Given the description of an element on the screen output the (x, y) to click on. 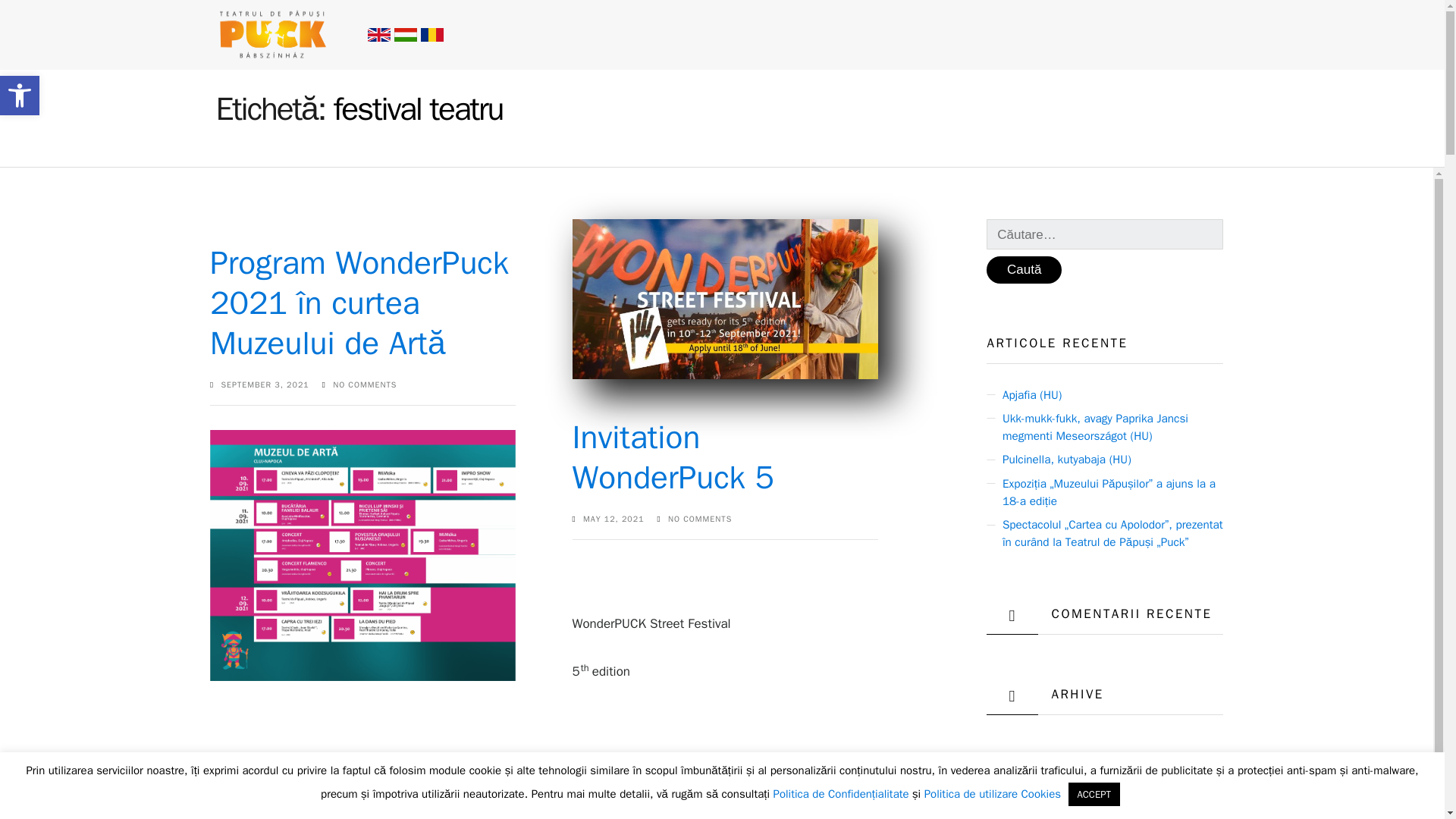
Instrumente de accesibilitate (19, 95)
SEPTEMBER 3, 2021 (264, 384)
Archivum (1025, 818)
Invitation WonderPuck 5 (673, 456)
Invitation WonderPuck 5 (673, 456)
MAY 12, 2021 (614, 519)
Instrumente de accesibilitate (19, 95)
